Given the description of an element on the screen output the (x, y) to click on. 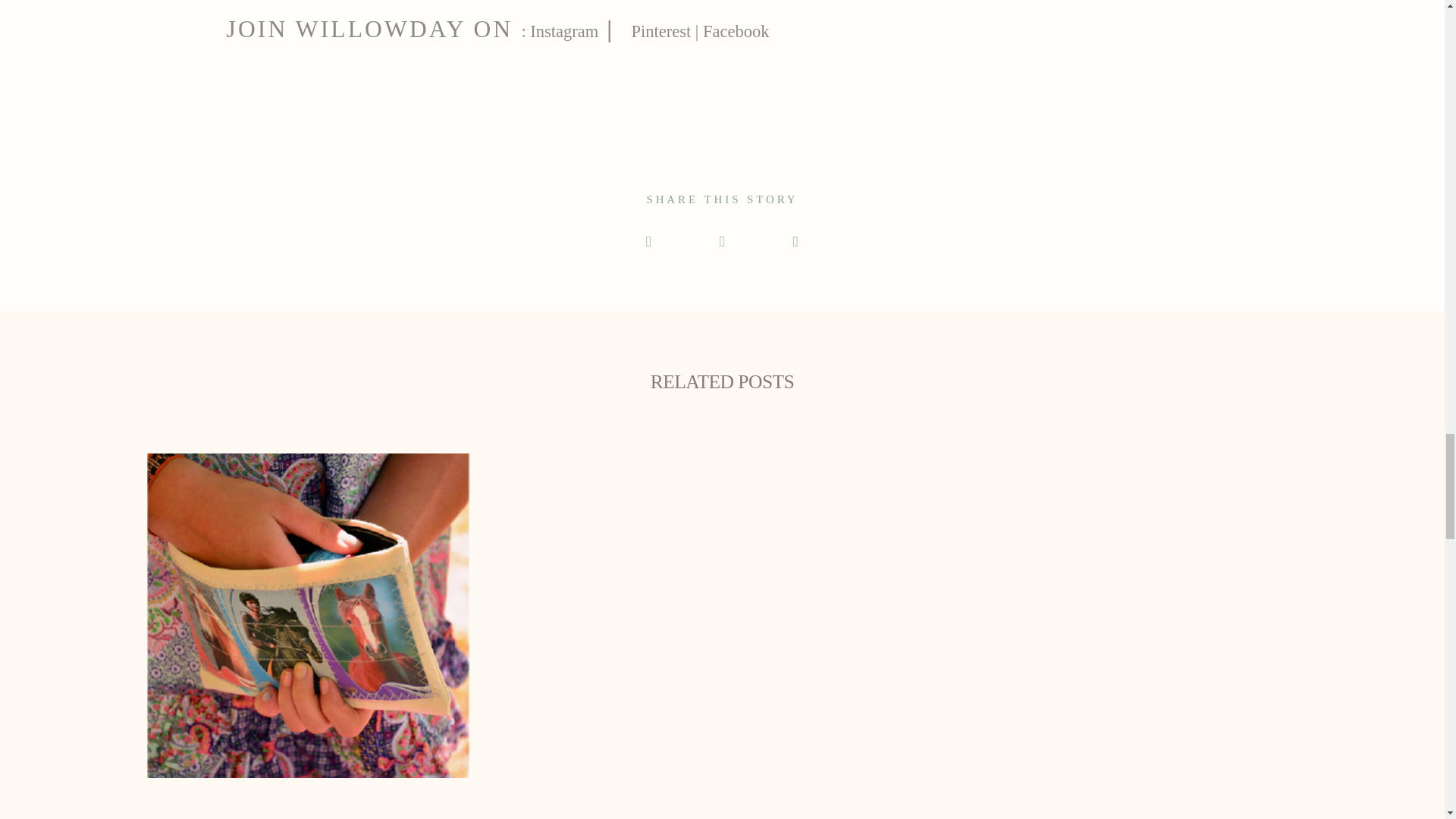
Instagram (563, 31)
 Facebook (733, 31)
